Given the description of an element on the screen output the (x, y) to click on. 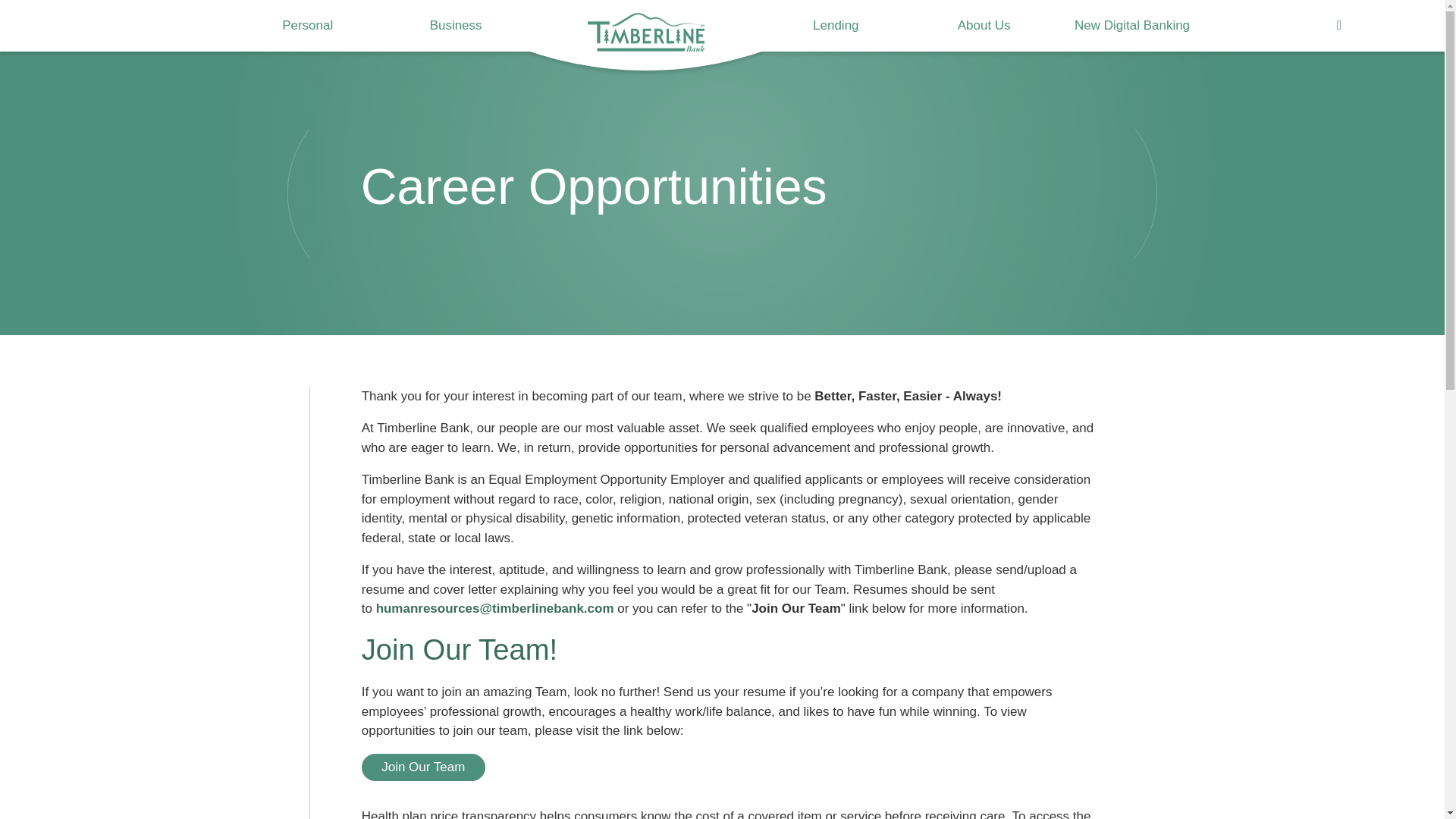
Hiring Positions Link (422, 767)
